Given the description of an element on the screen output the (x, y) to click on. 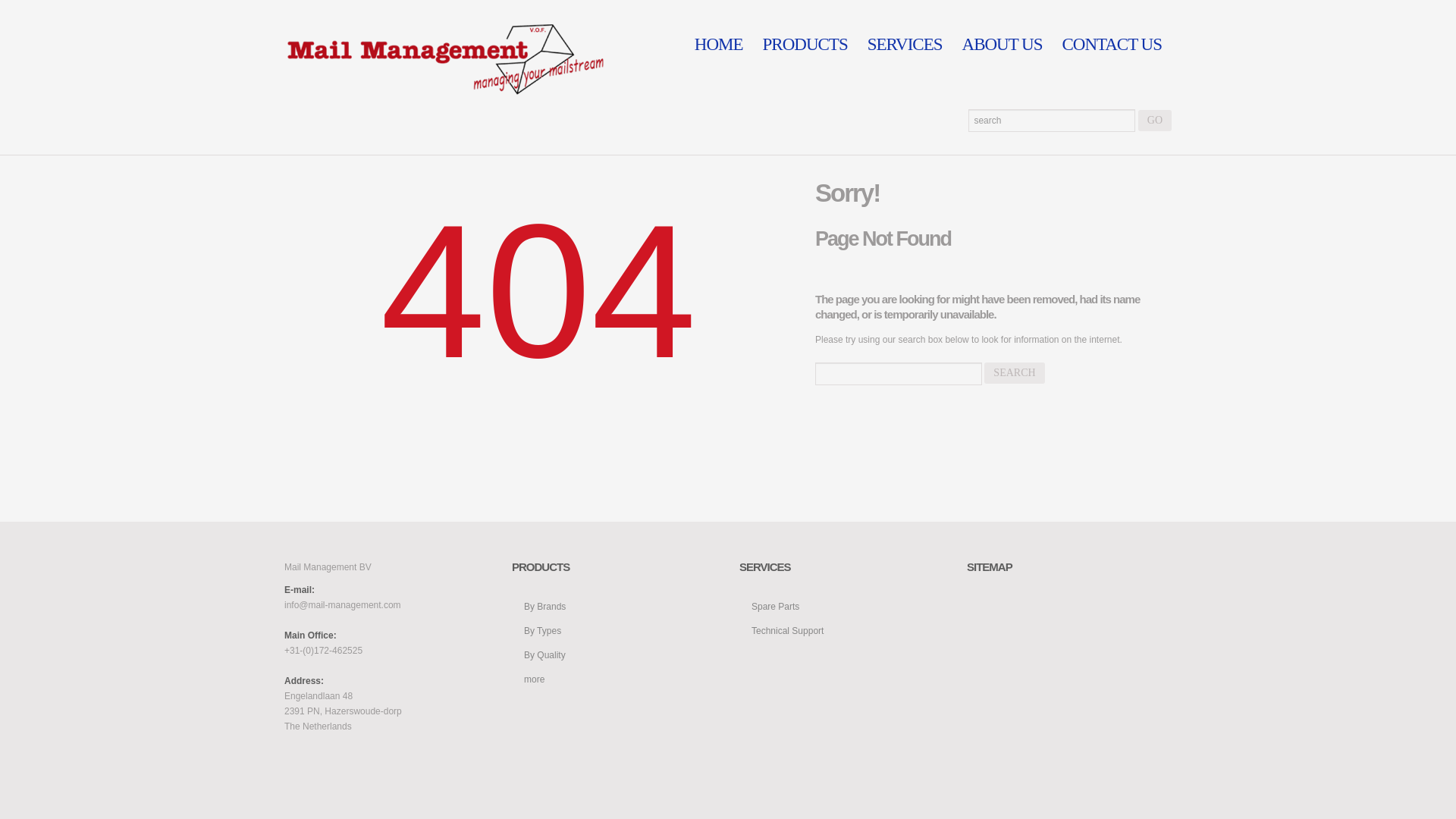
Go (1155, 120)
HOME (718, 44)
PRODUCTS (804, 44)
search (1013, 373)
search (1013, 373)
The best place for new or used mailing equipment (444, 59)
Go (1155, 120)
